Given the description of an element on the screen output the (x, y) to click on. 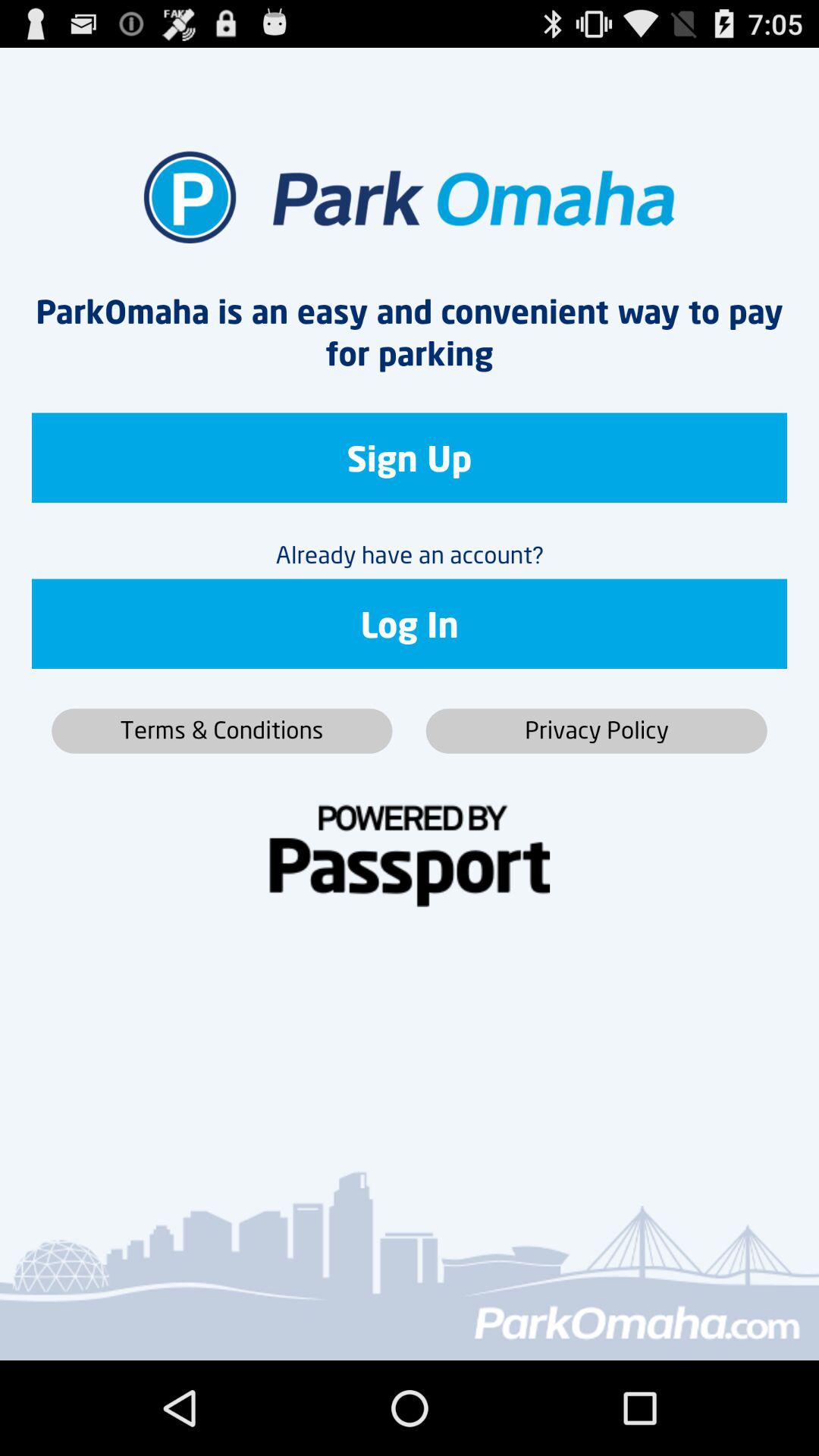
launch the item above the already have an (409, 457)
